Given the description of an element on the screen output the (x, y) to click on. 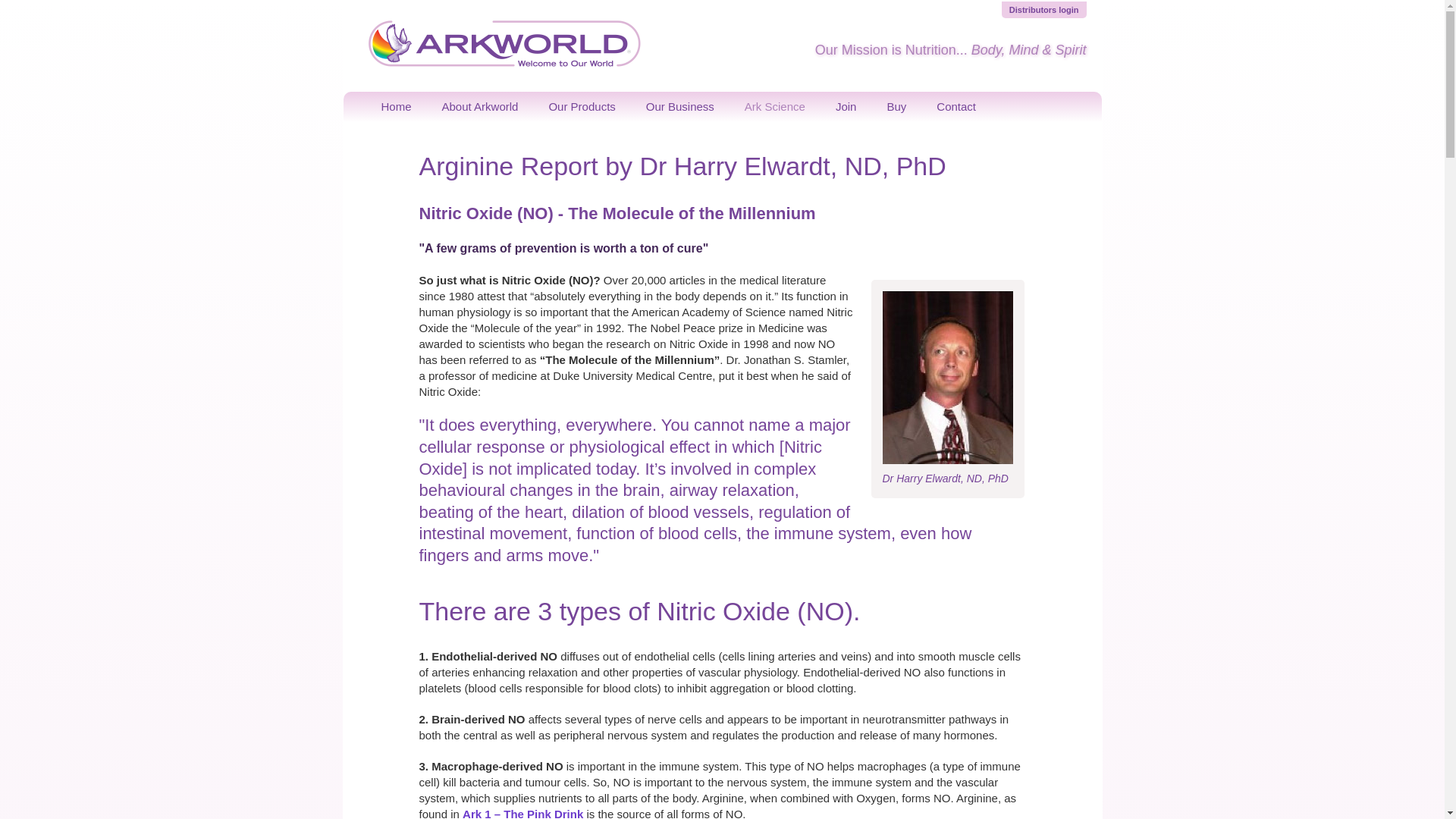
About Arkworld (480, 106)
Our Products (581, 106)
Our Business (679, 106)
Home (395, 106)
